Given the description of an element on the screen output the (x, y) to click on. 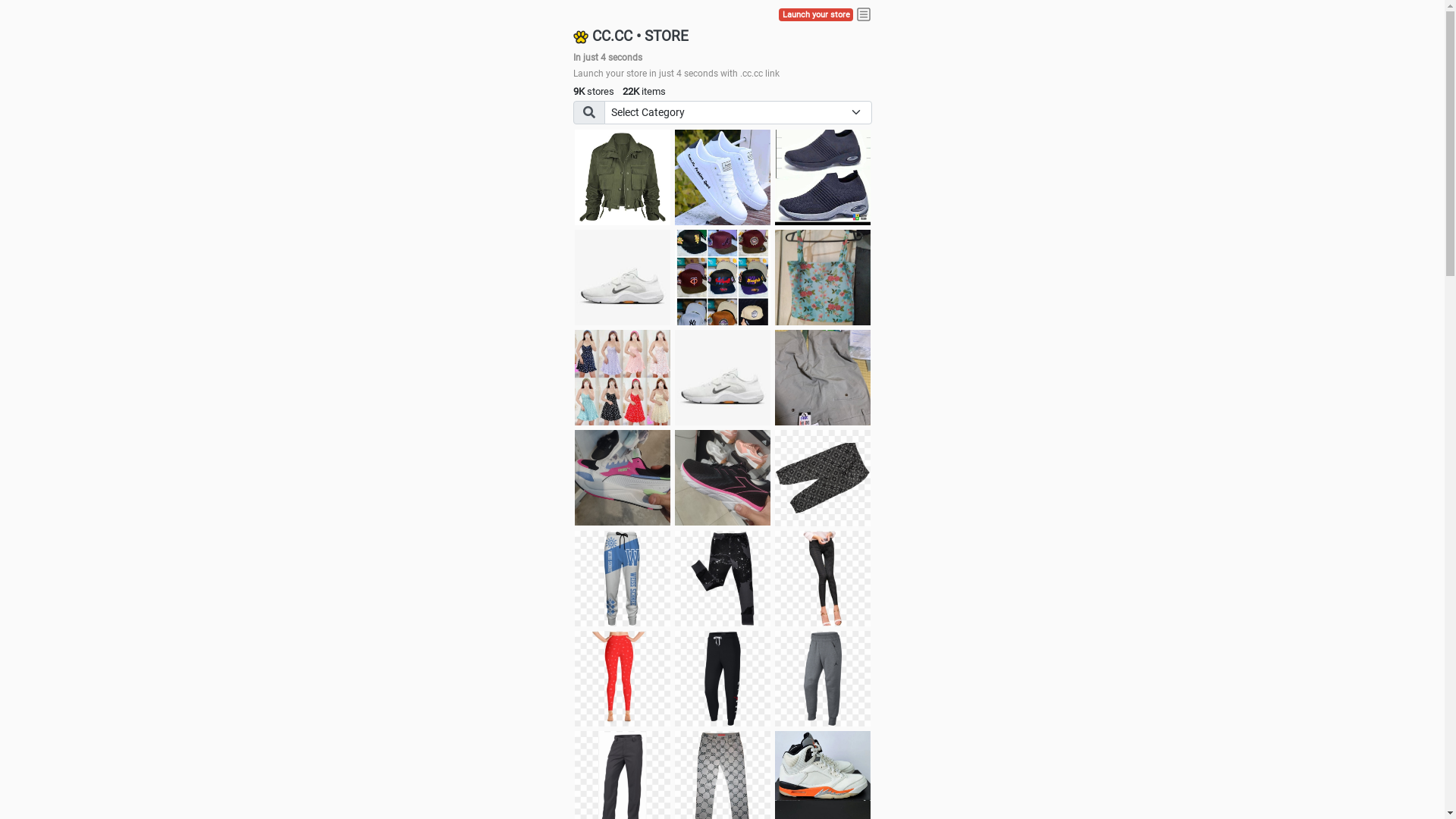
Shoes Element type: hover (722, 377)
Zapatillas pumas Element type: hover (622, 477)
jacket Element type: hover (622, 177)
white shoes Element type: hover (722, 177)
Pant Element type: hover (622, 578)
Pant Element type: hover (622, 678)
Pant Element type: hover (722, 578)
Pant Element type: hover (822, 678)
Launch your store Element type: text (815, 14)
Shoes for boys Element type: hover (622, 277)
Zapatillas Element type: hover (722, 477)
Ukay cloth Element type: hover (822, 277)
Pant Element type: hover (722, 678)
Short pant Element type: hover (822, 477)
Dress/square nect top Element type: hover (622, 377)
Things we need Element type: hover (722, 277)
Pant Element type: hover (822, 578)
shoes for boys Element type: hover (822, 177)
